Given the description of an element on the screen output the (x, y) to click on. 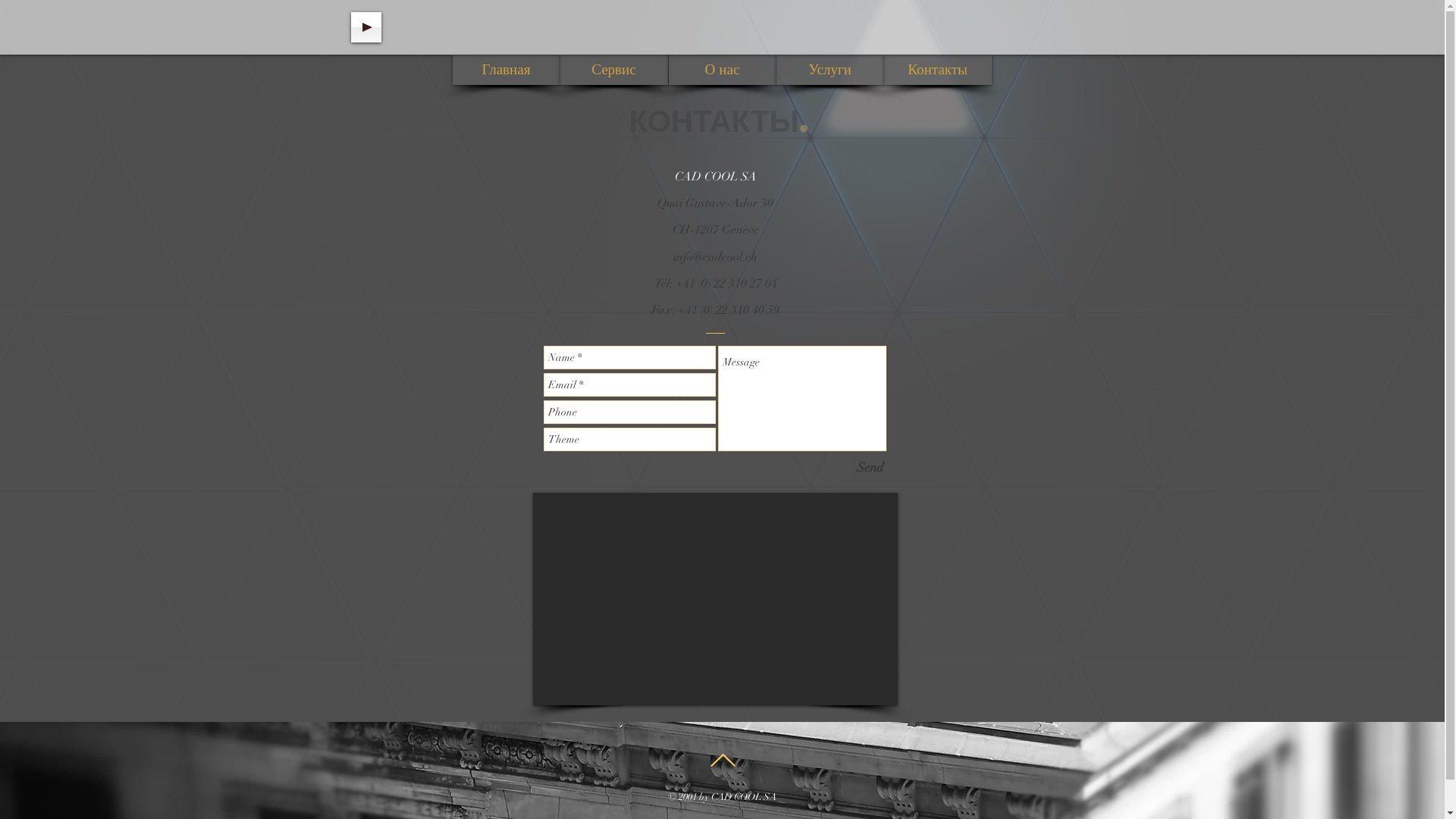
Send Element type: text (869, 467)
info@cadcool.ch Element type: text (715, 256)
